Given the description of an element on the screen output the (x, y) to click on. 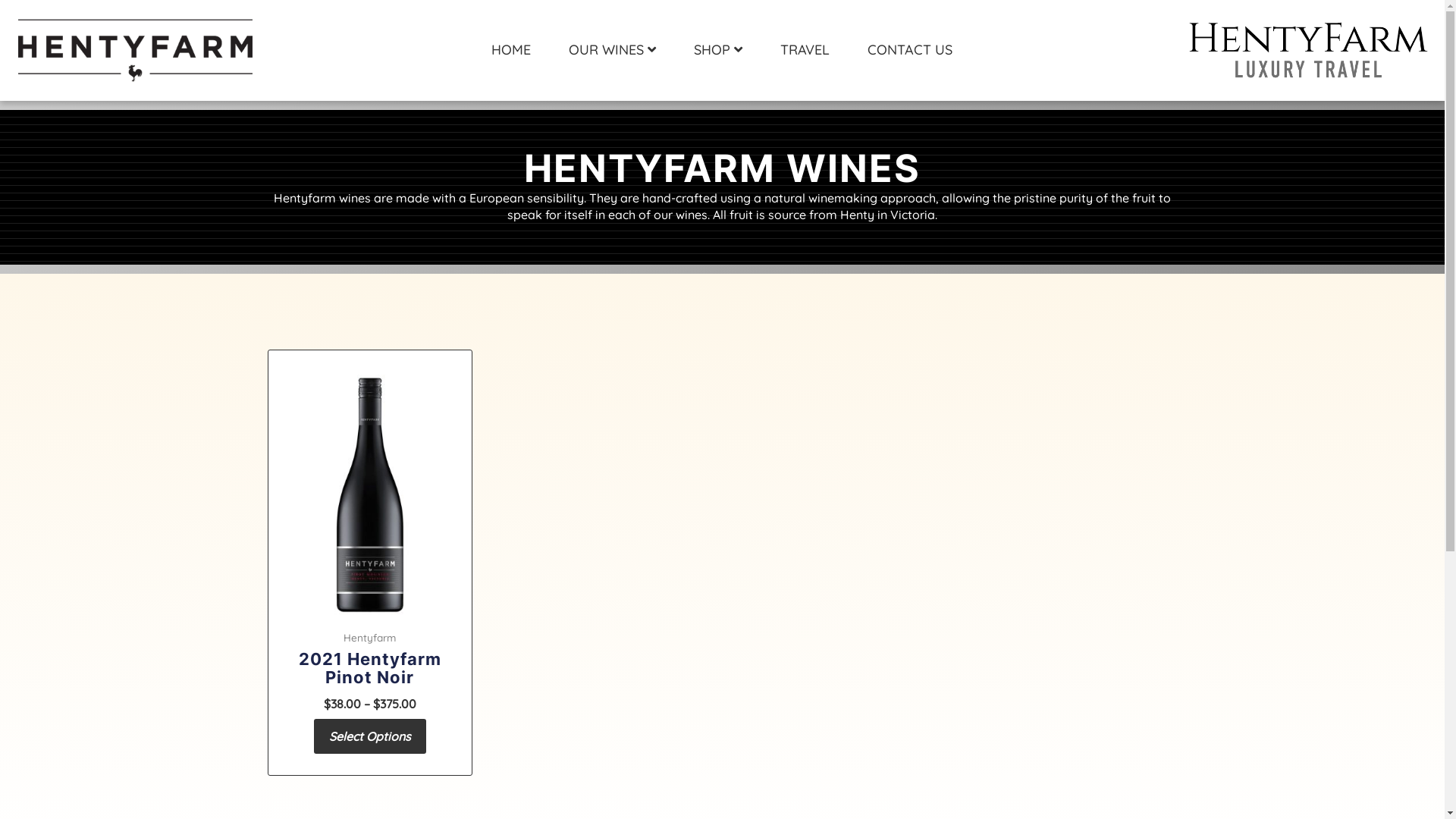
OUR WINES Element type: text (612, 49)
SHOP Element type: text (717, 49)
TRAVEL Element type: text (804, 49)
HOME Element type: text (511, 49)
CONTACT US Element type: text (909, 49)
2021 Hentyfarm Pinot Noir Element type: text (369, 671)
Select Options Element type: text (369, 735)
